Given the description of an element on the screen output the (x, y) to click on. 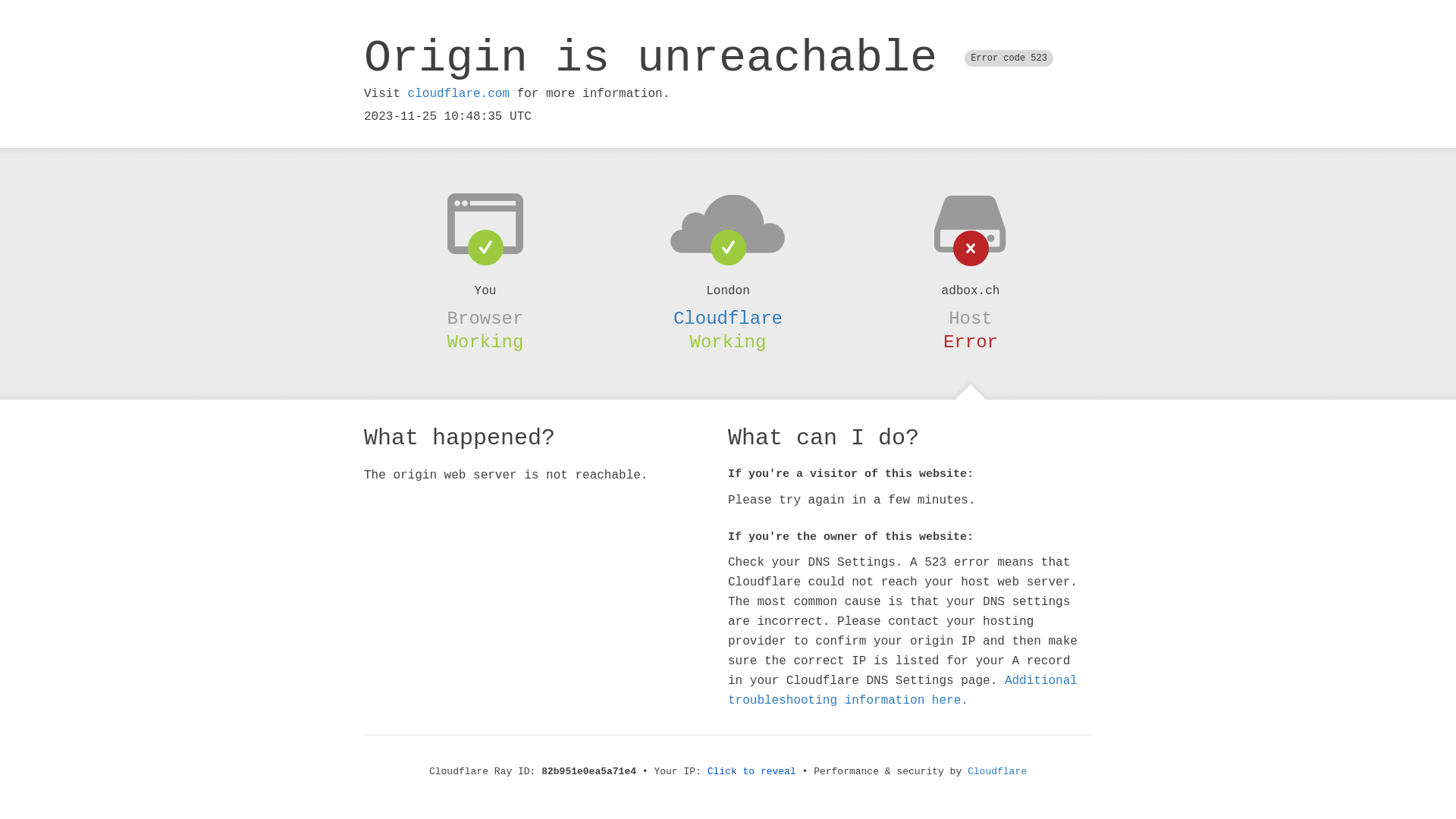
Cloudflare Element type: text (727, 318)
Click to reveal Element type: text (751, 771)
Cloudflare Element type: text (996, 771)
Additional troubleshooting information here. Element type: text (902, 690)
cloudflare.com Element type: text (458, 93)
